Given the description of an element on the screen output the (x, y) to click on. 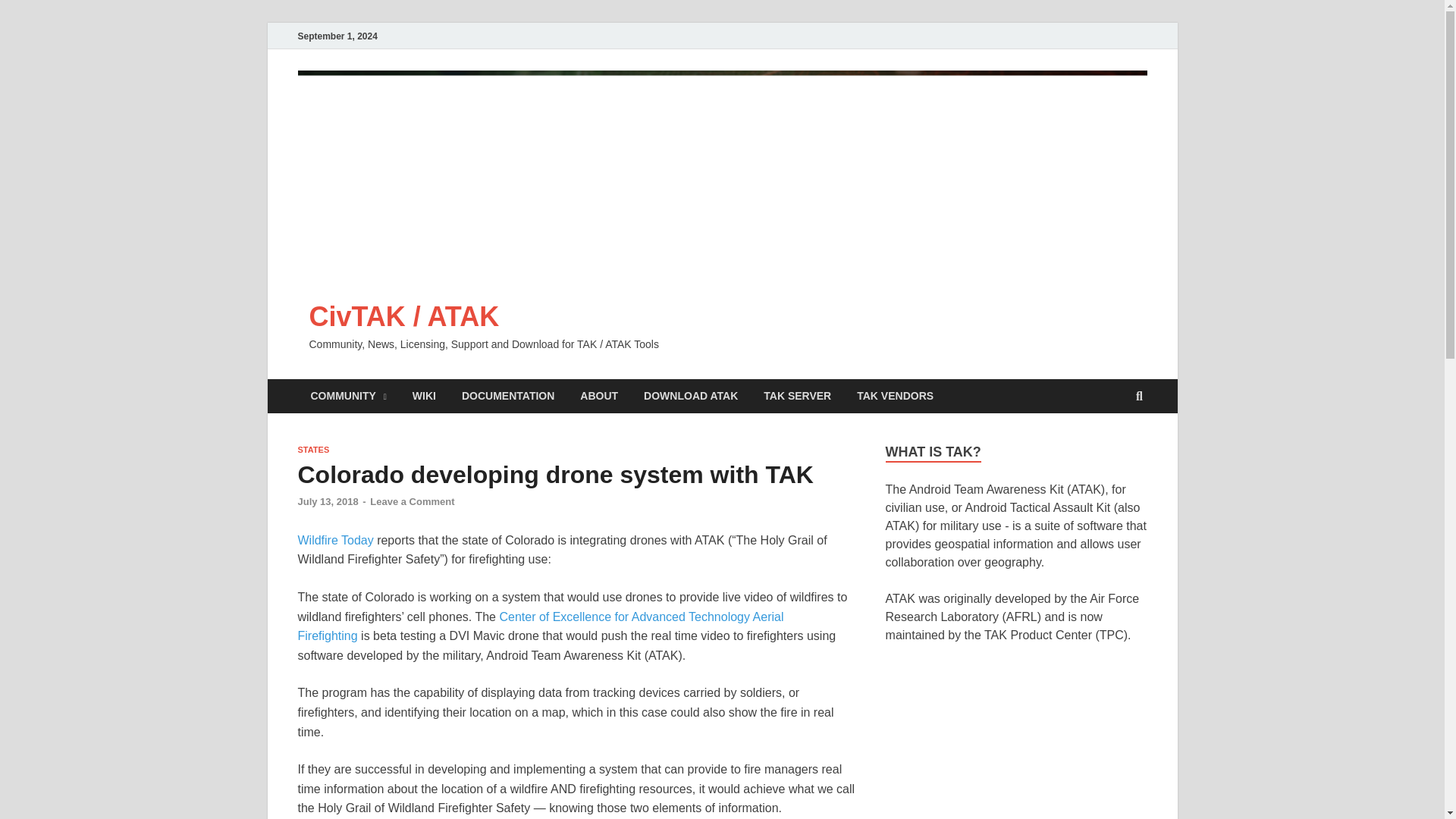
WIKI (423, 396)
TAK VENDORS (895, 396)
DOWNLOAD ATAK (690, 396)
DOCUMENTATION (507, 396)
July 13, 2018 (327, 501)
COMMUNITY (347, 396)
TAK SERVER (797, 396)
Wildfire Today (337, 540)
STATES (313, 449)
Leave a Comment (411, 501)
